Given the description of an element on the screen output the (x, y) to click on. 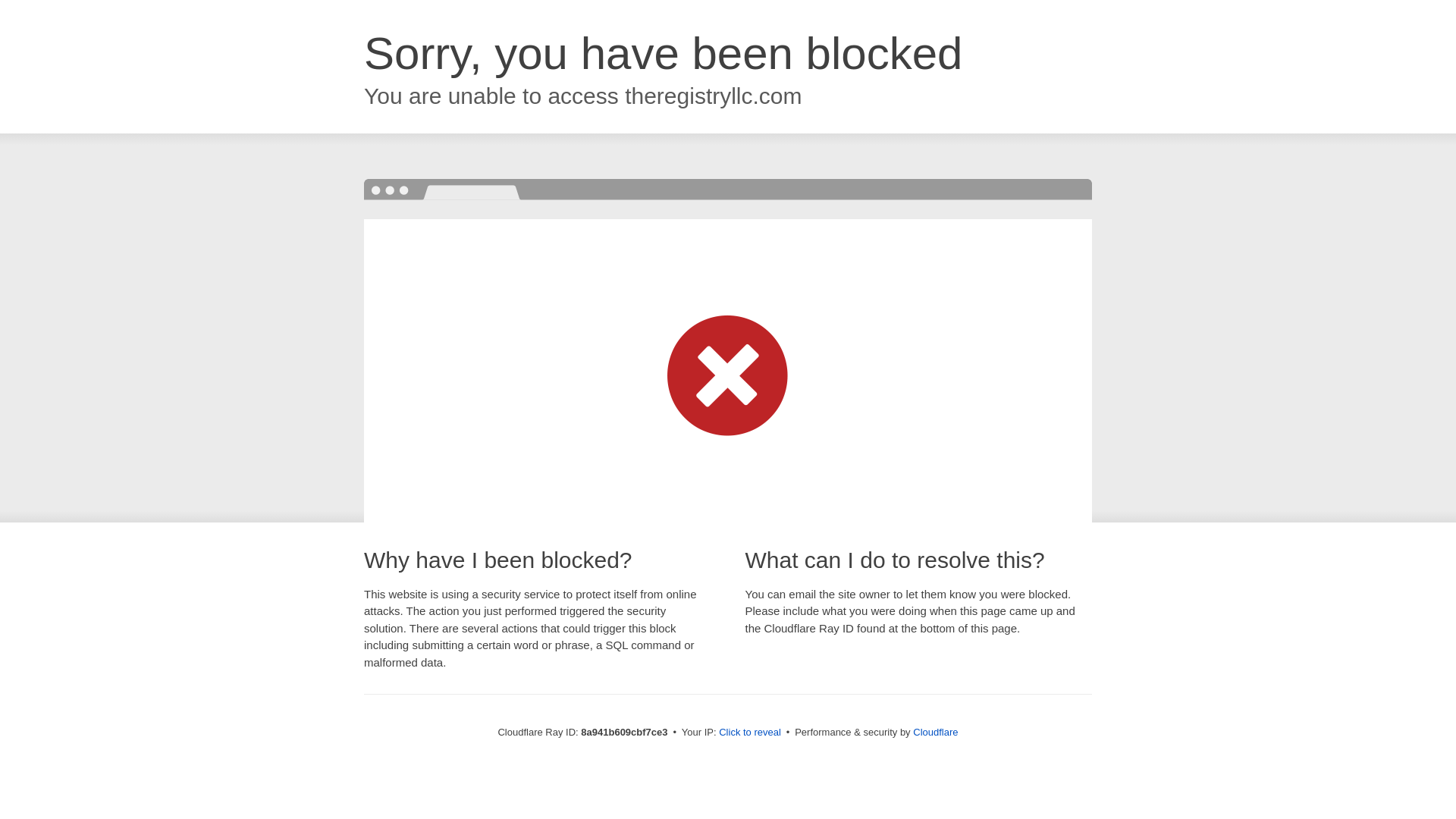
Click to reveal (749, 732)
Cloudflare (935, 731)
